Given the description of an element on the screen output the (x, y) to click on. 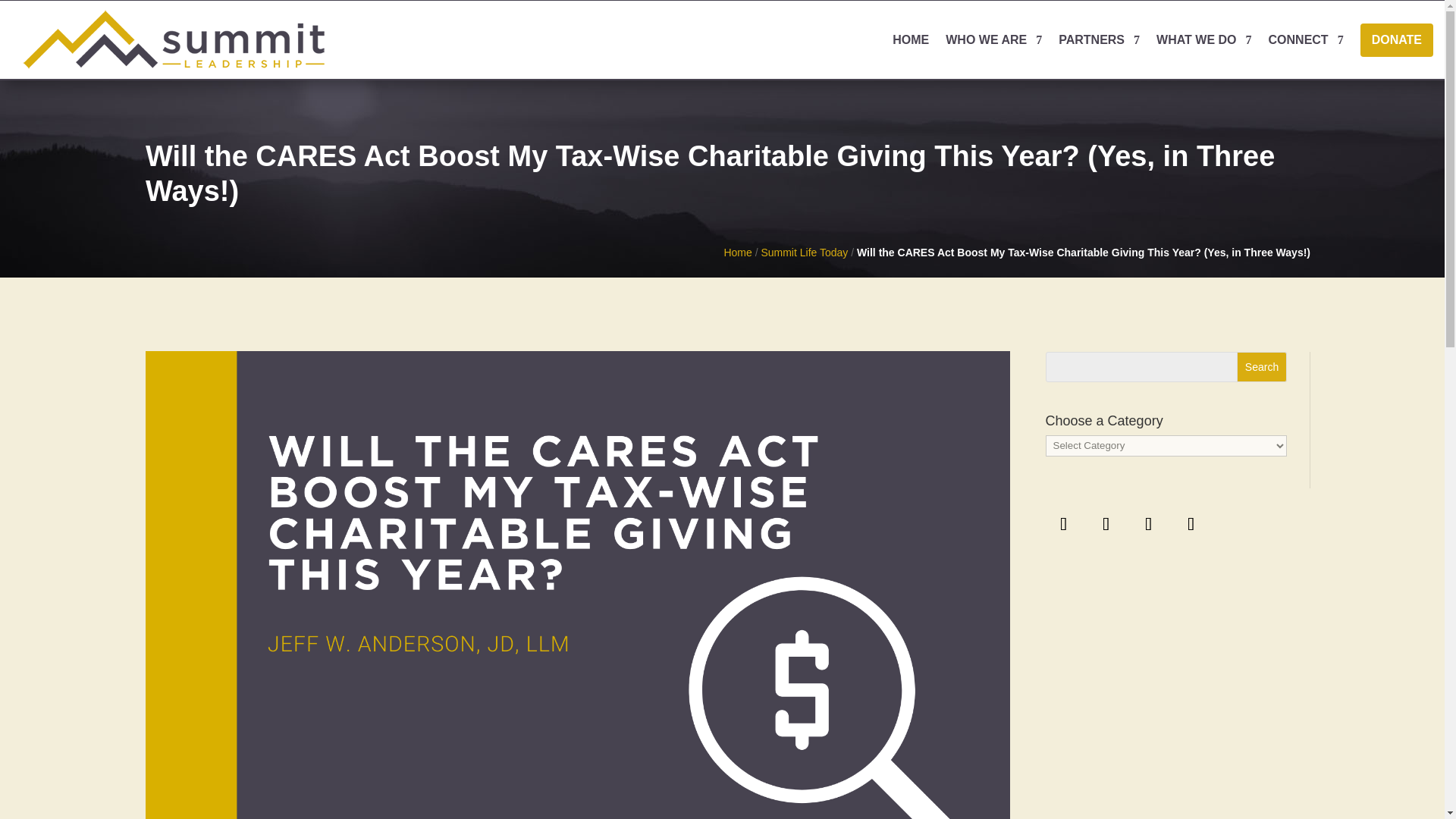
Follow on Pinterest (1191, 524)
DONATE (1395, 39)
Follow on X (1105, 524)
Search (1261, 367)
CONNECT (1305, 39)
WHO WE ARE (993, 39)
WHAT WE DO (1203, 39)
Follow on LinkedIn (1149, 524)
Follow on Facebook (1063, 524)
PARTNERS (1099, 39)
